Given the description of an element on the screen output the (x, y) to click on. 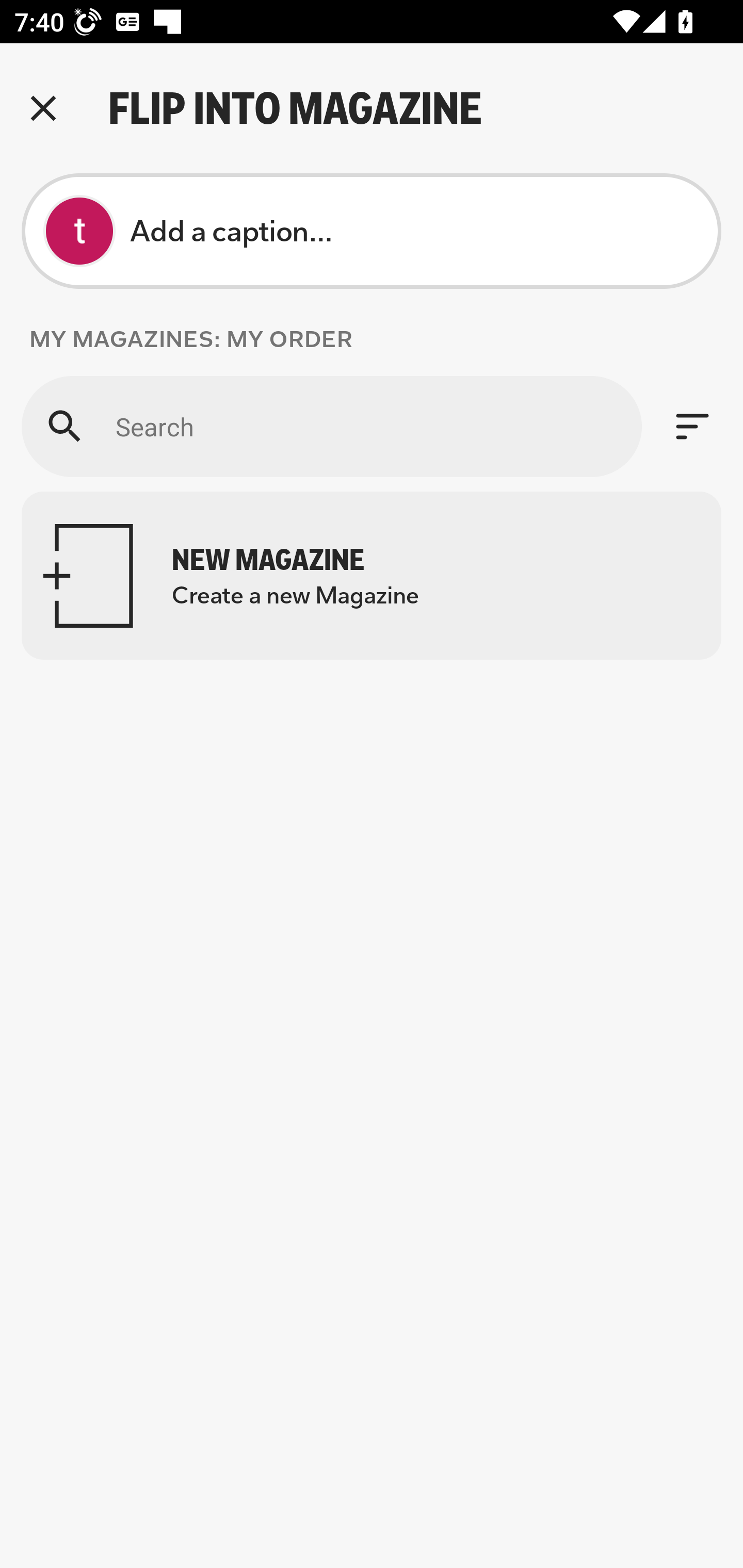
test appium Add a caption… (371, 231)
Search (331, 426)
NEW MAGAZINE Create a new Magazine (371, 575)
